Given the description of an element on the screen output the (x, y) to click on. 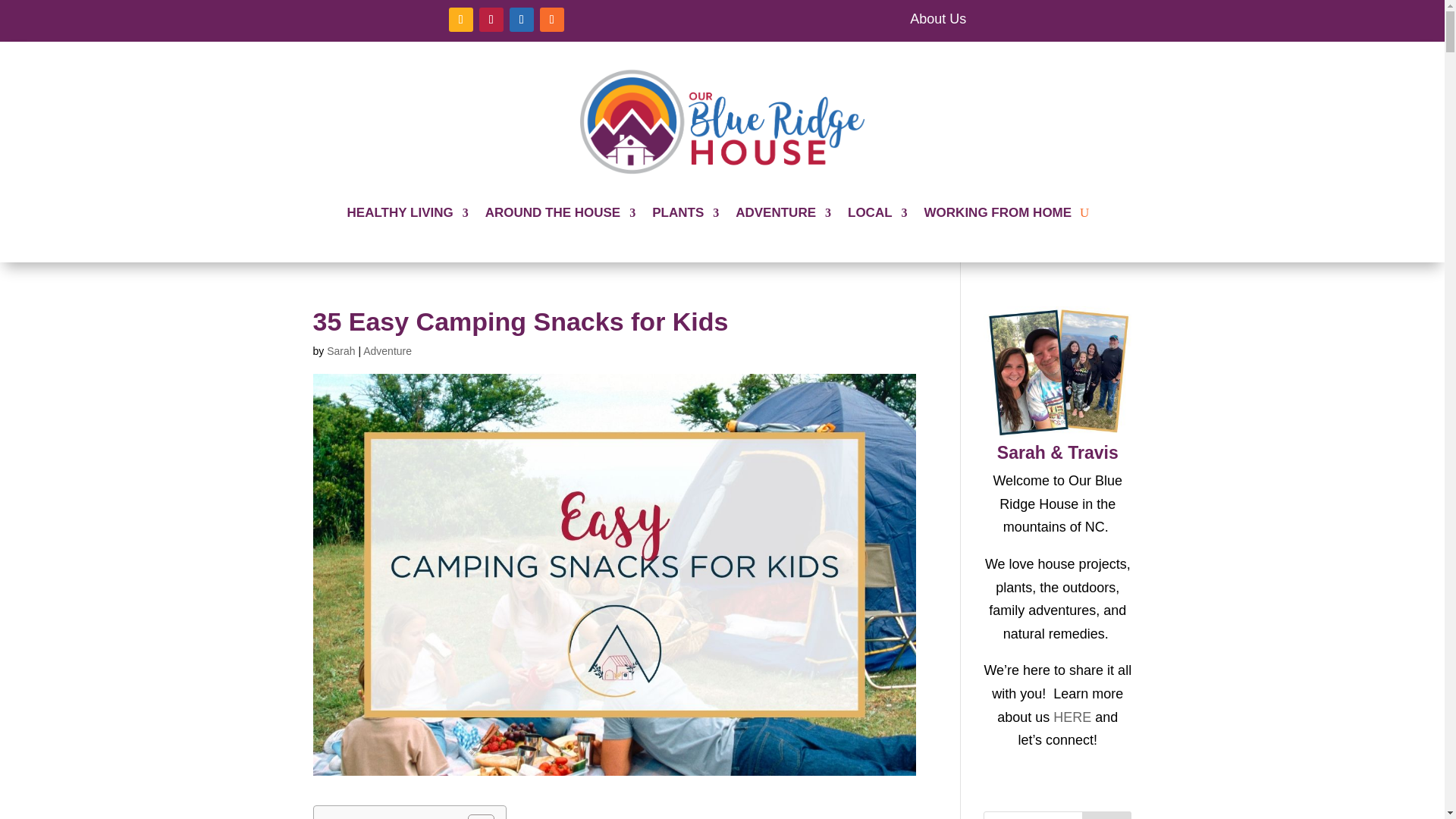
About Us (938, 18)
AROUND THE HOUSE (560, 212)
ADVENTURE (783, 212)
Search (1106, 815)
WORKING FROM HOME (997, 212)
Follow on Instagram (460, 19)
Posts by Sarah (340, 350)
Follow on TikTok (491, 19)
LOCAL (877, 212)
Follow on Youtube (521, 19)
